Given the description of an element on the screen output the (x, y) to click on. 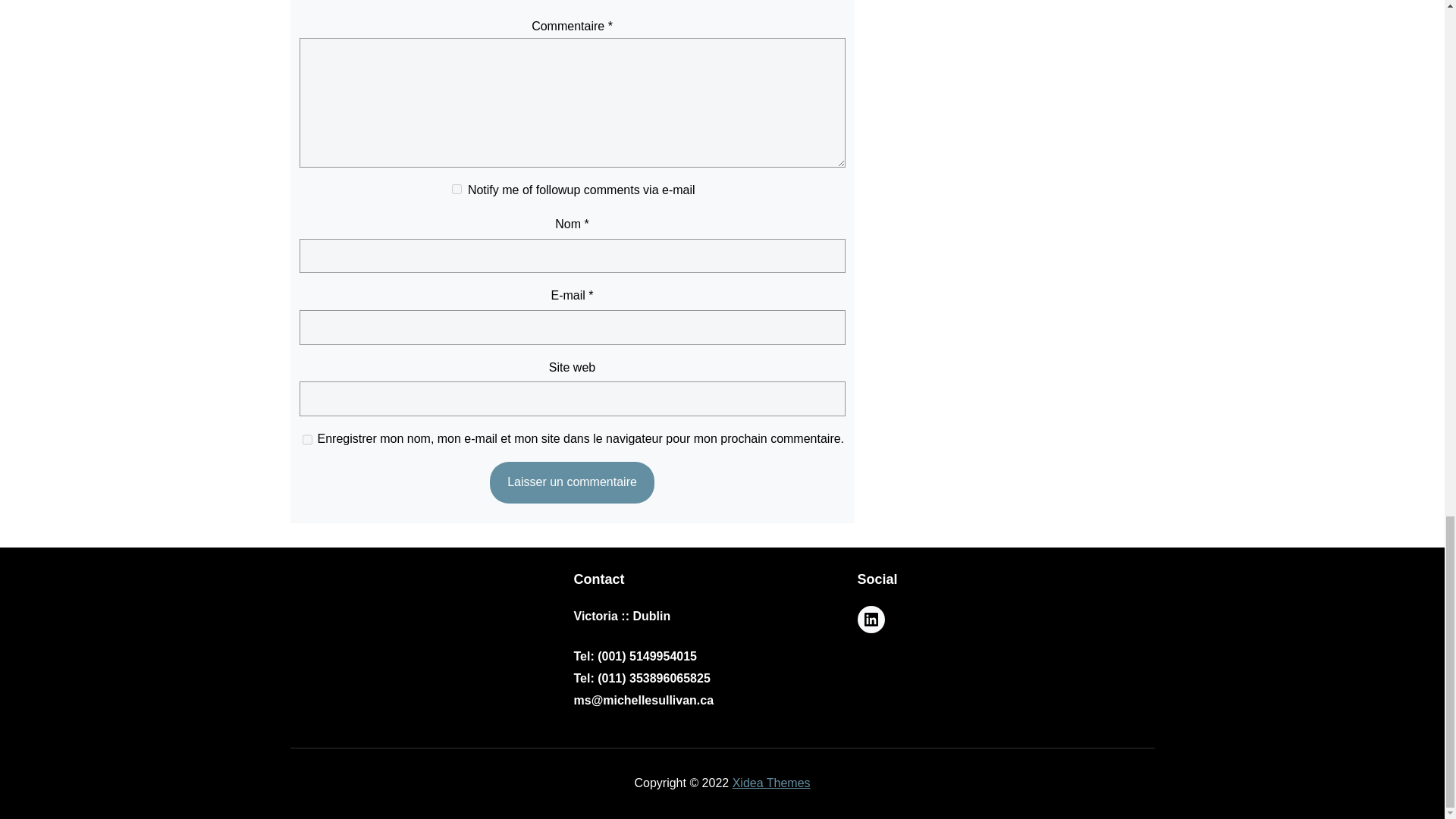
subscribe (456, 189)
Laisser un commentaire (571, 481)
LinkedIn (870, 619)
Laisser un commentaire (571, 481)
Xidea Themes (771, 782)
